Given the description of an element on the screen output the (x, y) to click on. 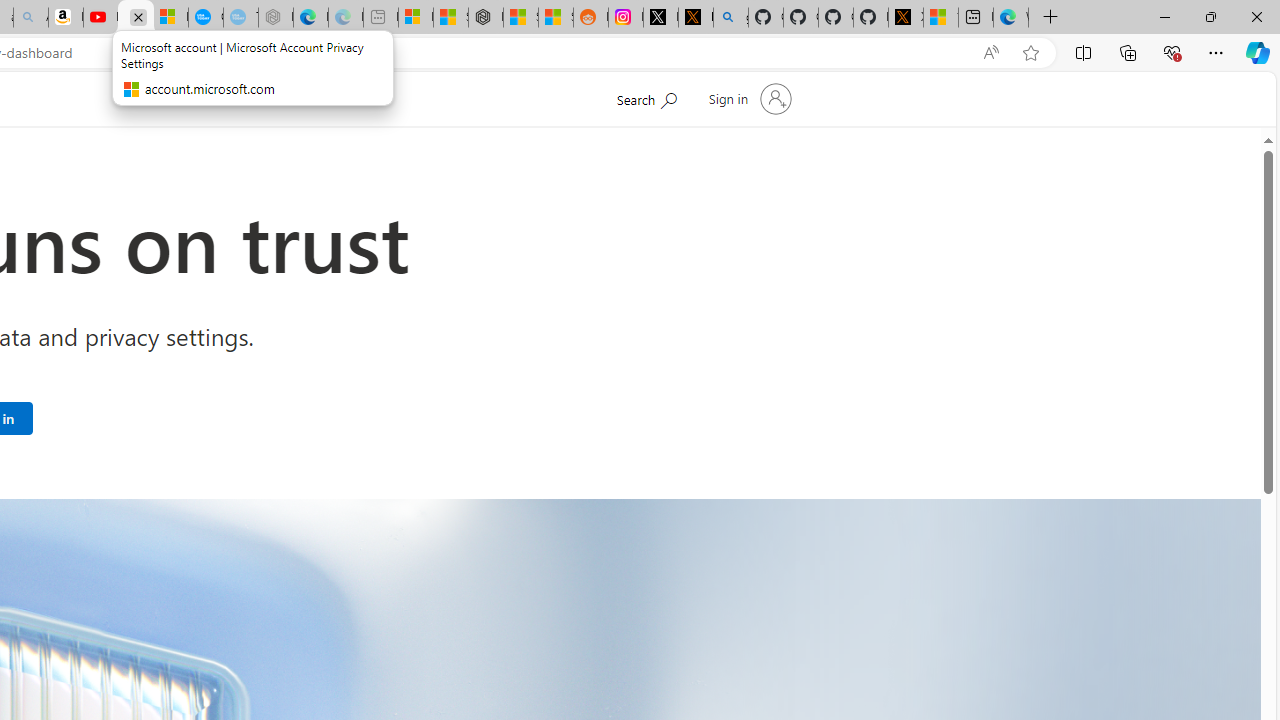
Log in to X / X (660, 17)
Welcome to Microsoft Edge (1010, 17)
Shanghai, China Weather trends | Microsoft Weather (555, 17)
